Given the description of an element on the screen output the (x, y) to click on. 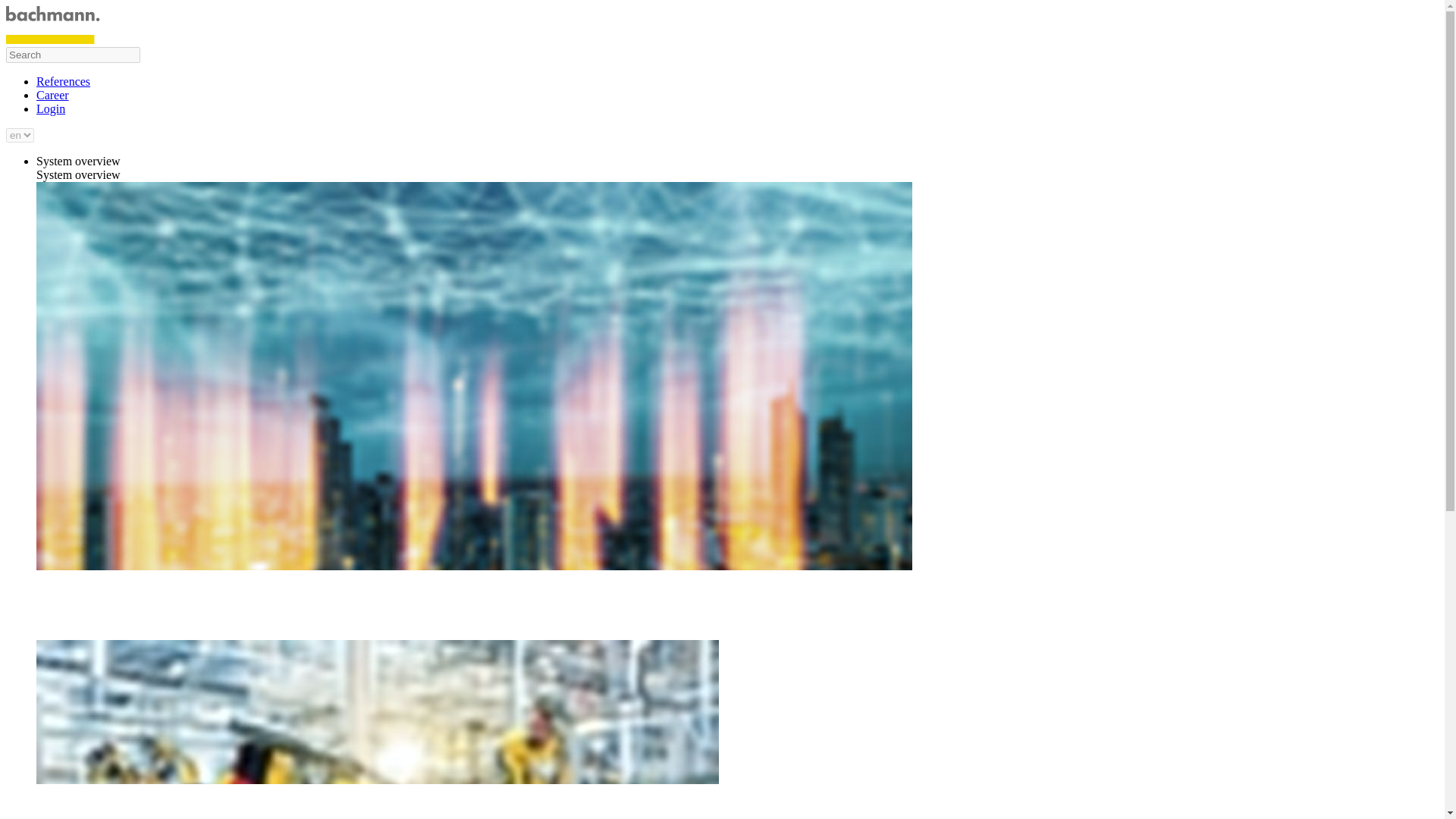
search (72, 54)
Career (52, 94)
Login (50, 108)
References (63, 81)
